Given the description of an element on the screen output the (x, y) to click on. 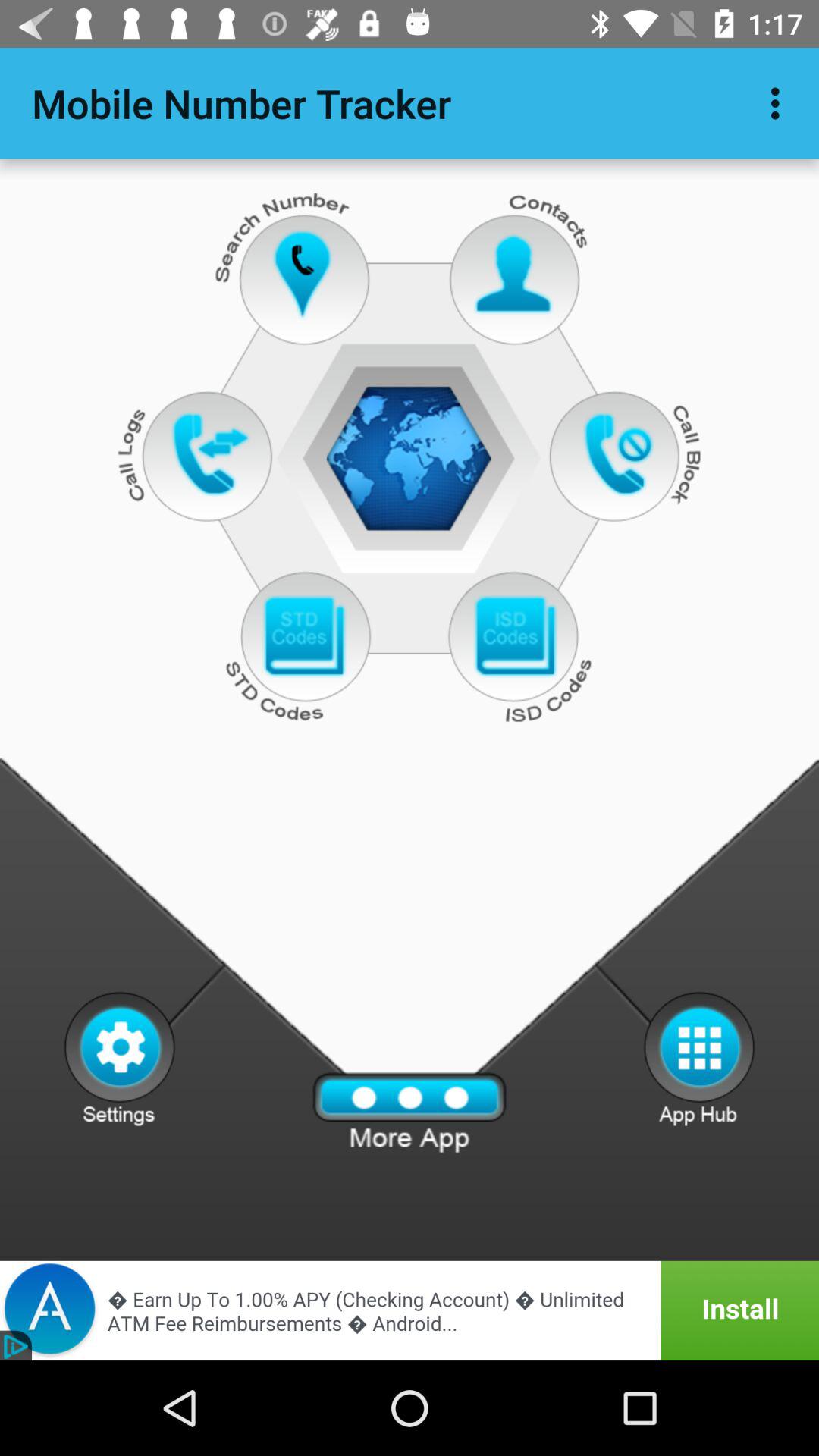
open the std codes (303, 637)
